Given the description of an element on the screen output the (x, y) to click on. 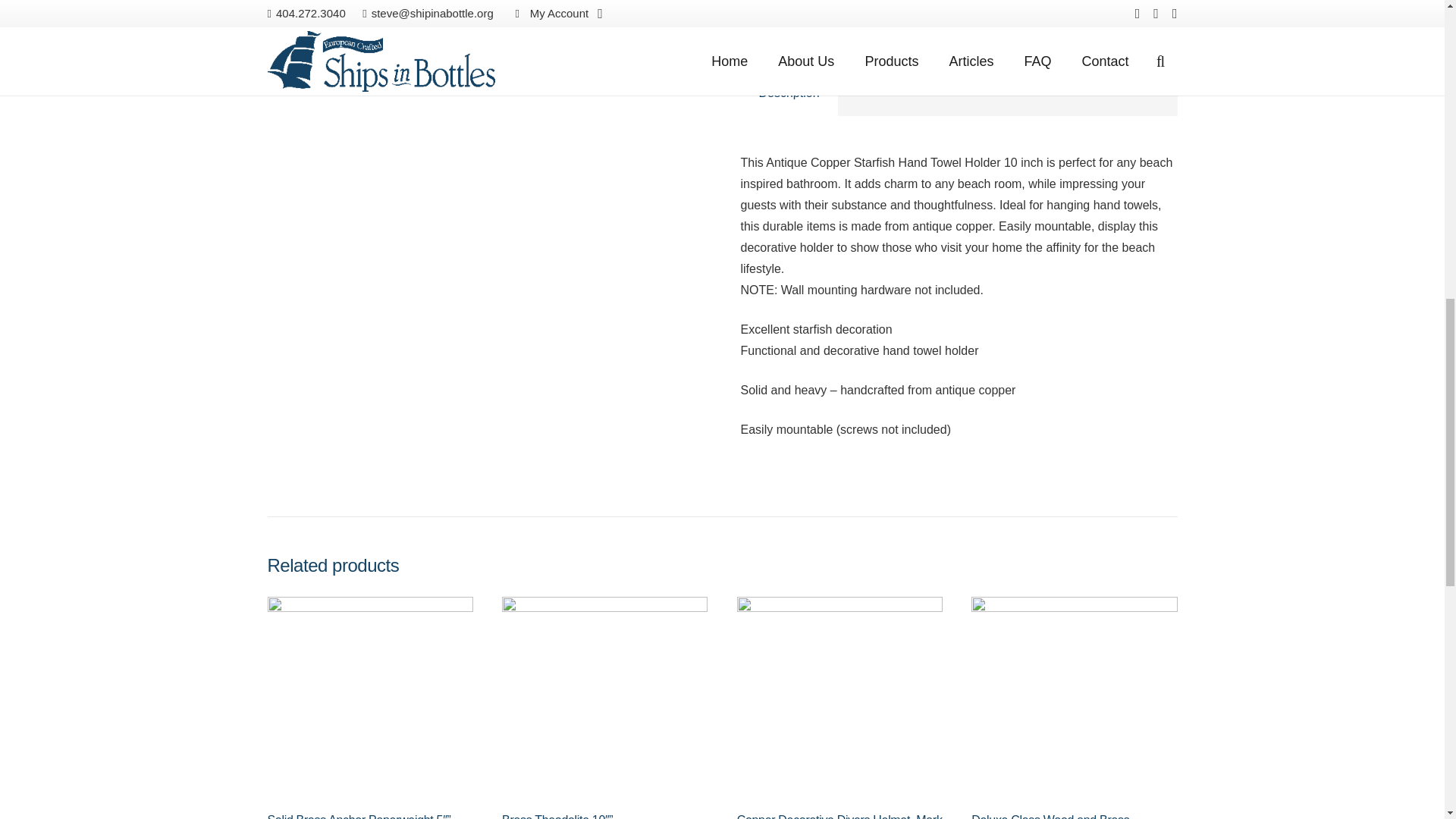
Nautical Decor (825, 21)
Description (788, 92)
Back to top (1413, 30)
